Given the description of an element on the screen output the (x, y) to click on. 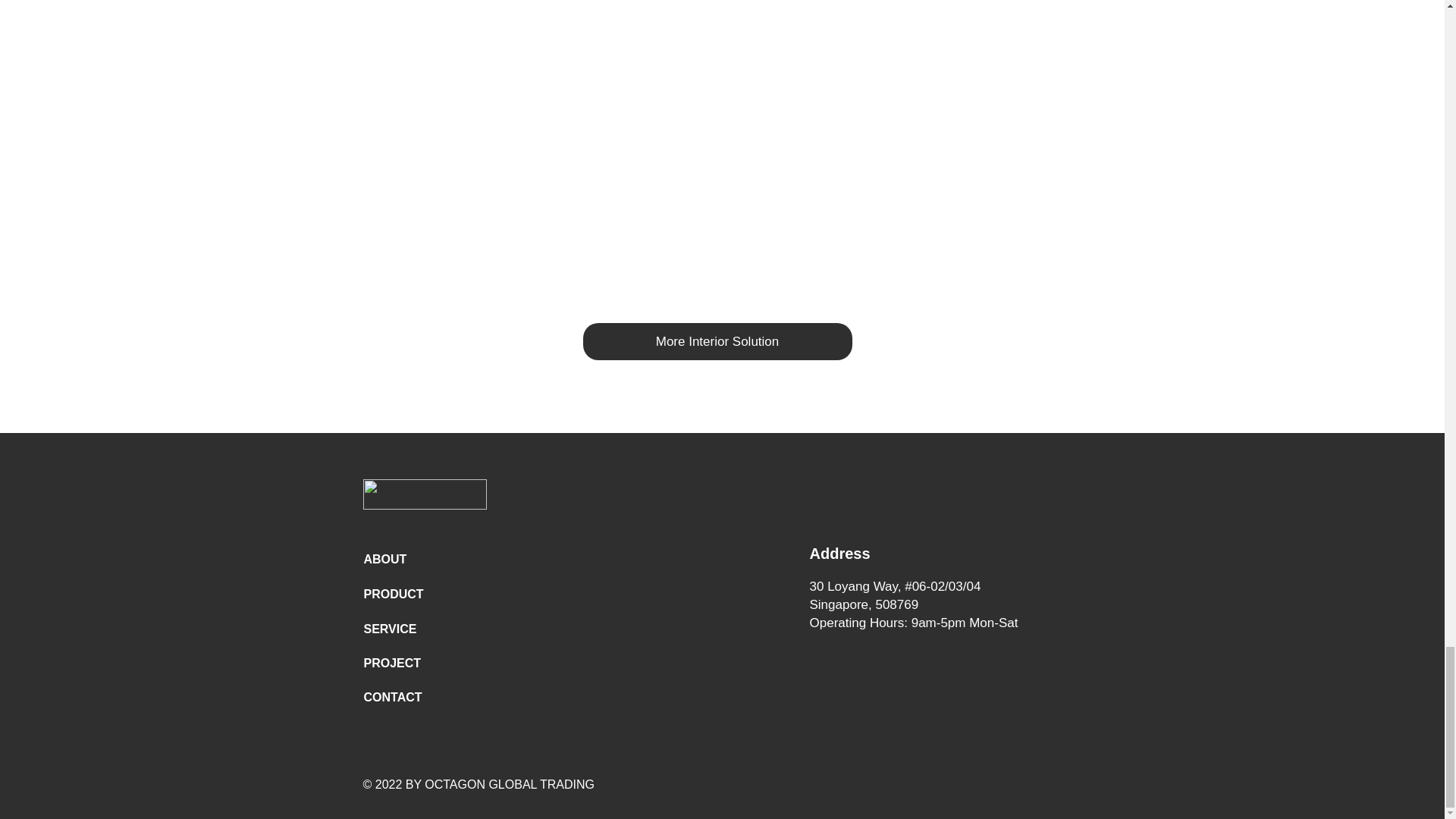
PRODUCT (419, 594)
CONTACT (419, 697)
More Interior Solution (716, 341)
ABOUT (419, 559)
SERVICE (419, 628)
PROJECT (419, 663)
octagonglobal-02.png (424, 494)
